Given the description of an element on the screen output the (x, y) to click on. 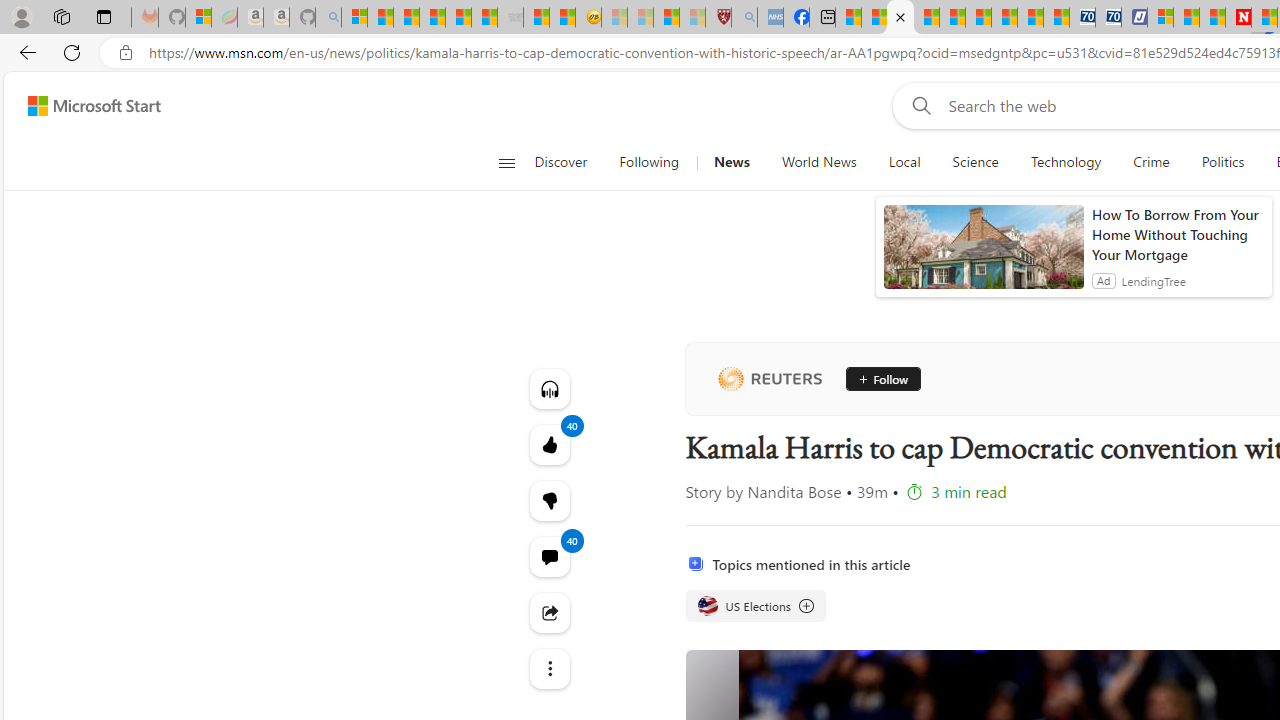
Share this story (548, 612)
Open navigation menu (506, 162)
Follow (876, 378)
Skip to footer (82, 105)
Crime (1151, 162)
Politics (1222, 162)
Class: button-glyph (505, 162)
Science (975, 162)
Listen to this article (548, 388)
Politics (1222, 162)
12 Popular Science Lies that Must be Corrected - Sleeping (692, 17)
World News (818, 162)
